Given the description of an element on the screen output the (x, y) to click on. 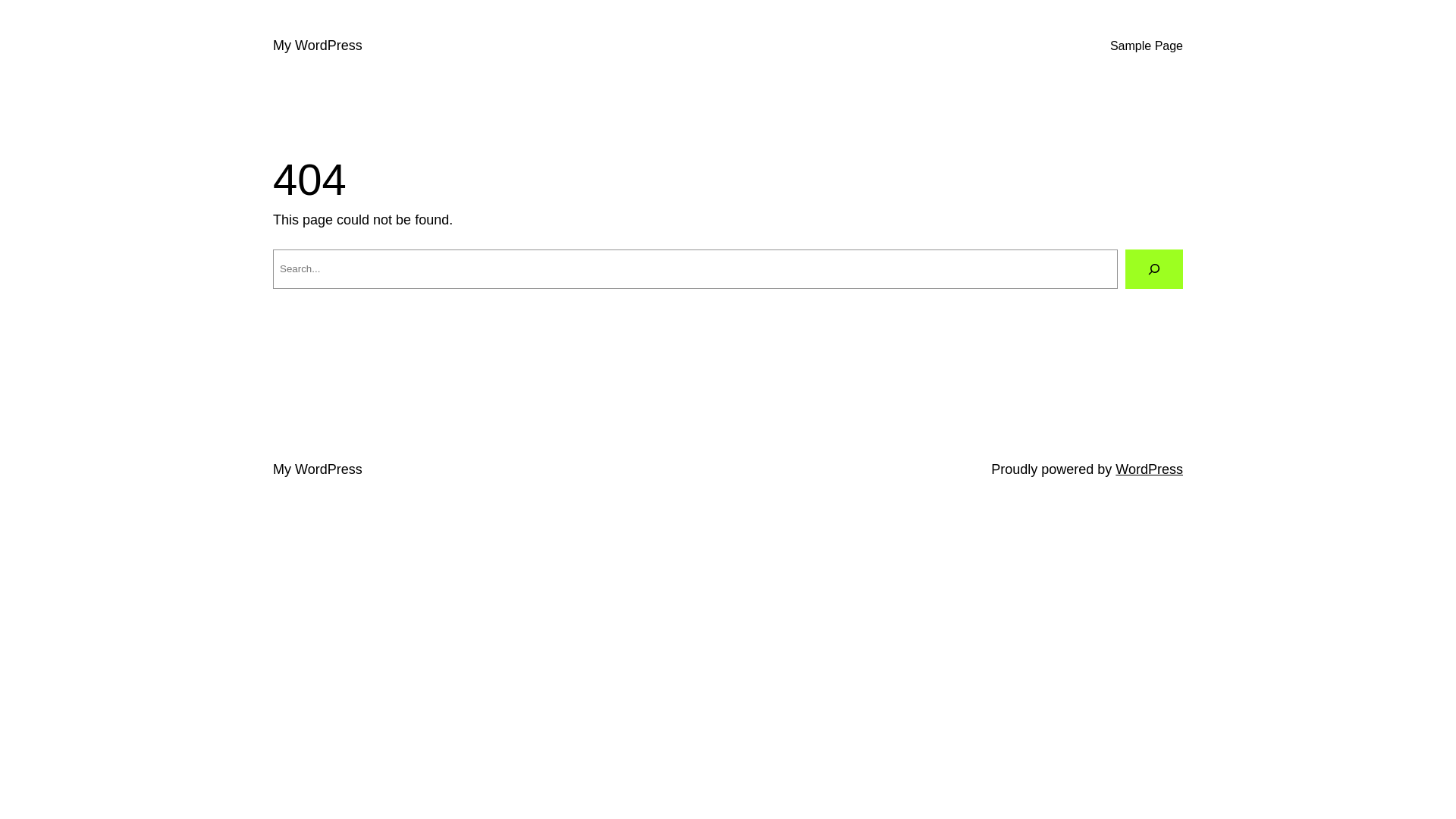
WordPress Element type: text (1149, 468)
My WordPress Element type: text (317, 45)
My WordPress Element type: text (317, 468)
Sample Page Element type: text (1146, 46)
